Given the description of an element on the screen output the (x, y) to click on. 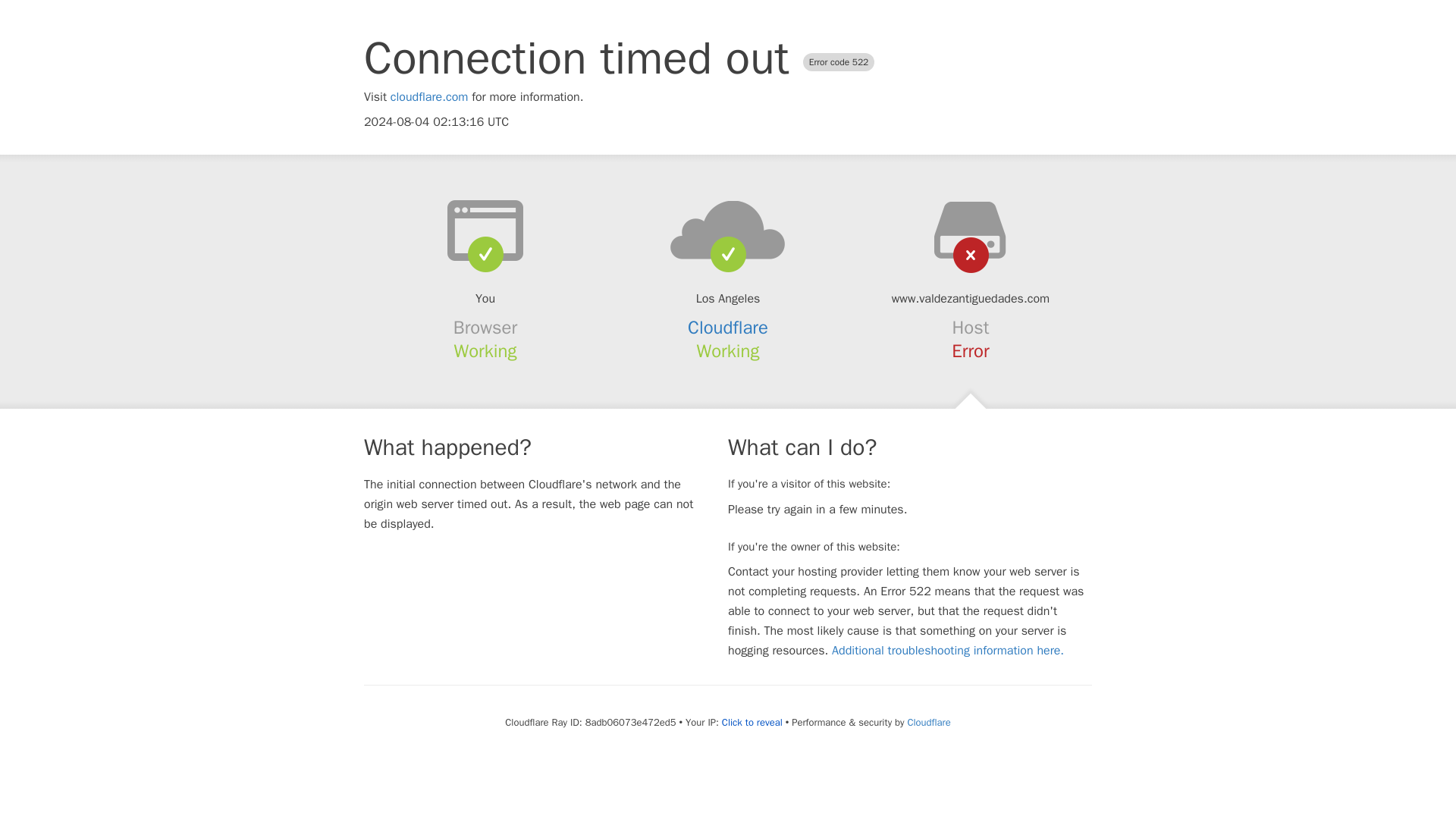
Additional troubleshooting information here. (947, 650)
Cloudflare (928, 721)
Click to reveal (752, 722)
cloudflare.com (429, 96)
Cloudflare (727, 327)
